Given the description of an element on the screen output the (x, y) to click on. 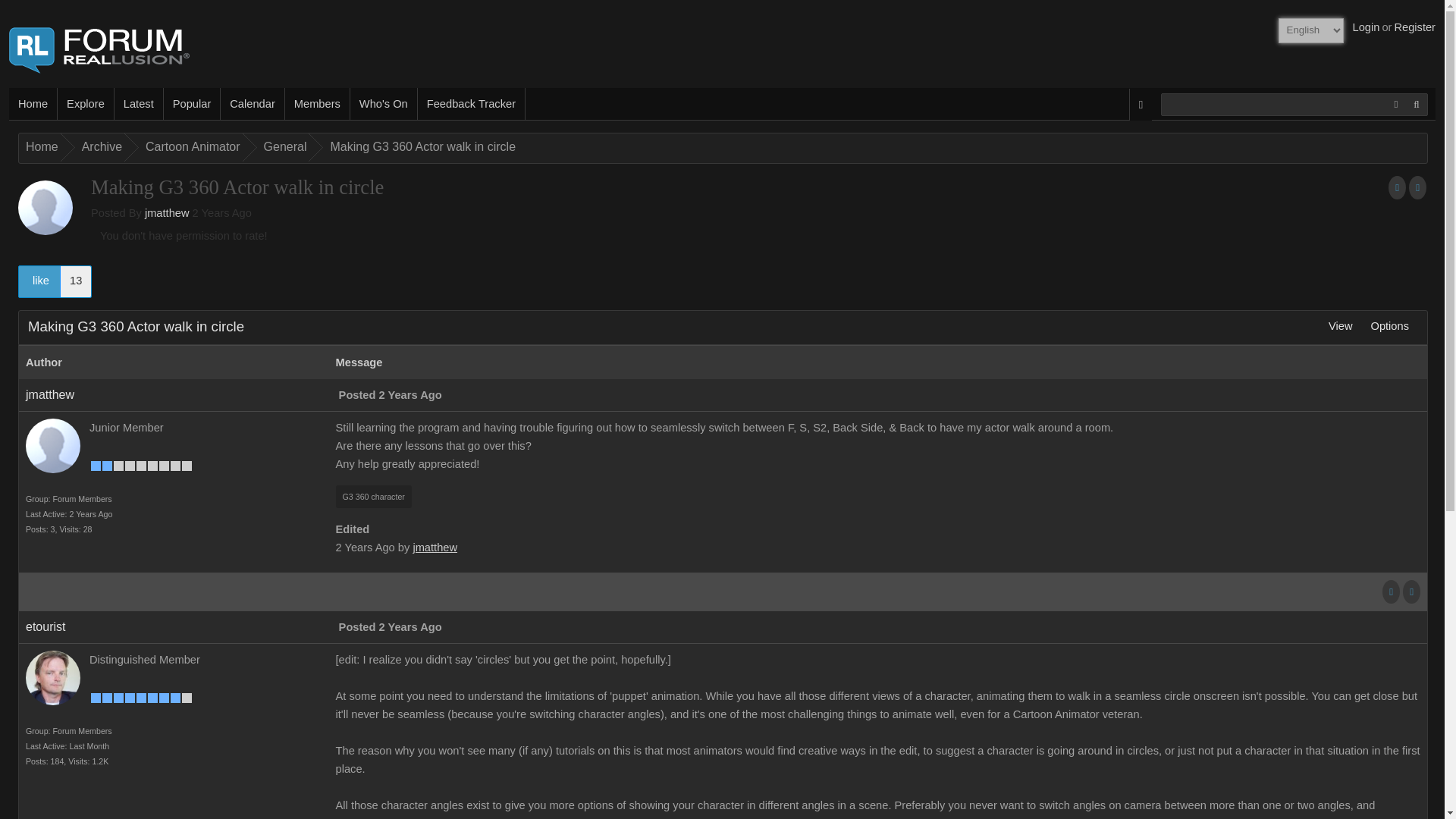
General (282, 146)
Home (39, 146)
Click to view Home (39, 146)
Making G3 360 Actor walk in circle (420, 146)
Options (1389, 326)
Cartoon Animator (190, 146)
Latest (139, 103)
Popular (192, 103)
G3 360 character (374, 496)
Login (1366, 27)
Members (317, 103)
Calendar (252, 103)
Latest (139, 103)
Home (33, 103)
Register (1414, 27)
